Given the description of an element on the screen output the (x, y) to click on. 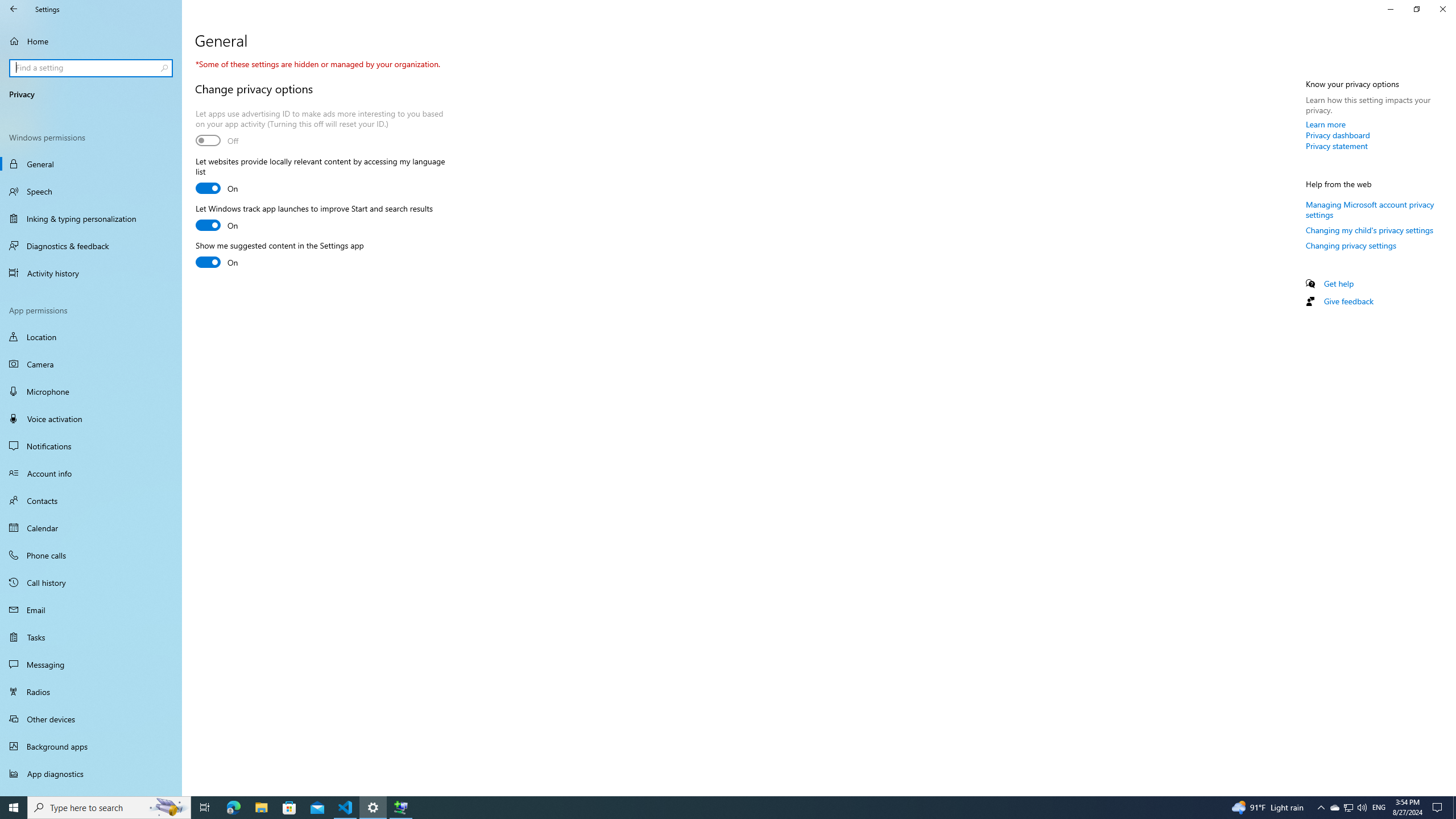
Microphone (91, 390)
